Given the description of an element on the screen output the (x, y) to click on. 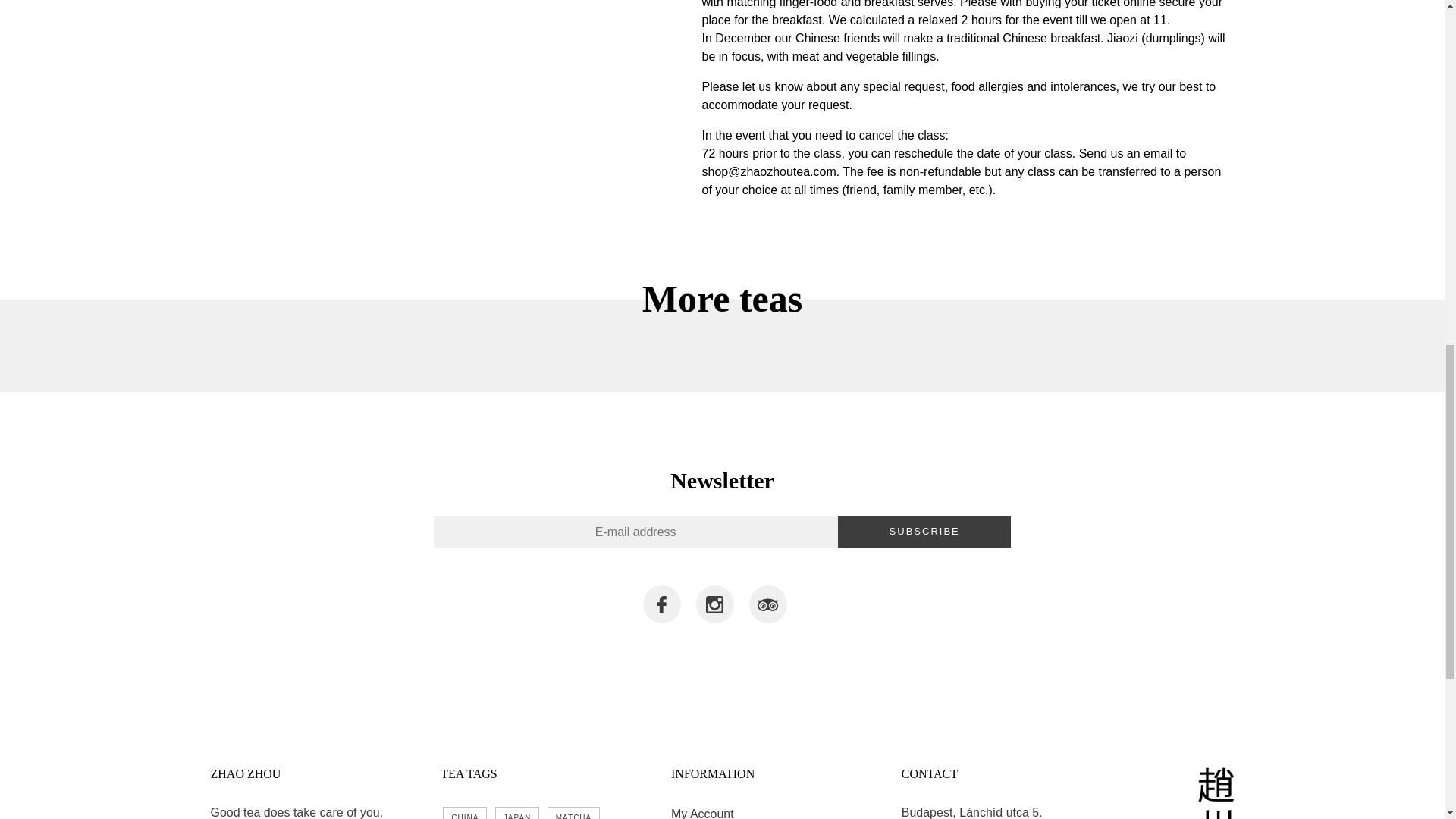
MATCHA (573, 812)
SUBSCRIBE (924, 531)
JAPAN (517, 812)
CHINA (464, 812)
